Given the description of an element on the screen output the (x, y) to click on. 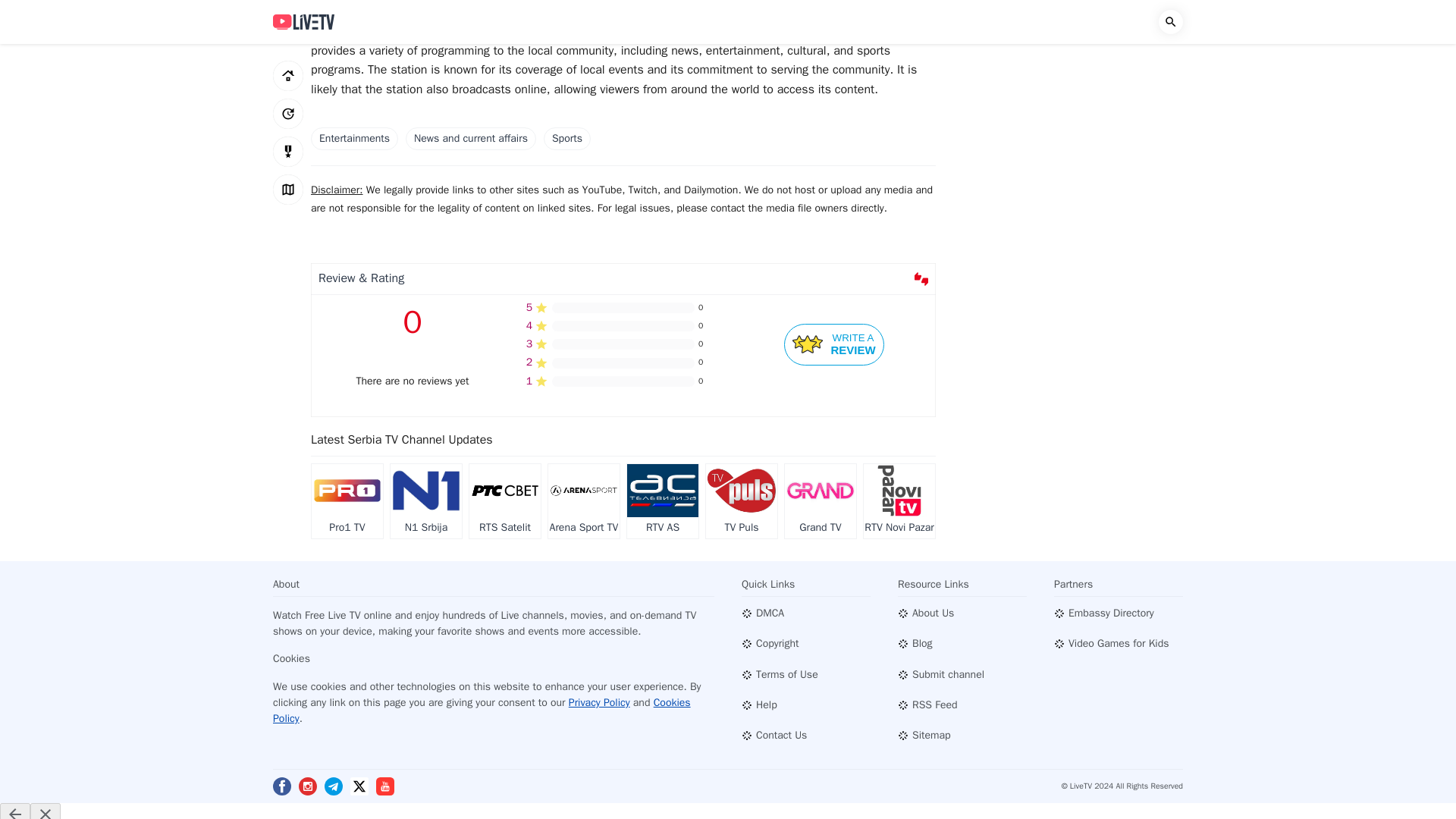
Arena Sport TV (584, 501)
Grand TV (820, 501)
Sports (567, 138)
News and current affairs (470, 138)
Entertainments (354, 138)
RTV AS (662, 501)
N1 Srbija (833, 344)
Pro1 TV (425, 501)
TV Puls (346, 501)
RTV Novi Pazar (741, 501)
RTS Satelit (898, 501)
